Given the description of an element on the screen output the (x, y) to click on. 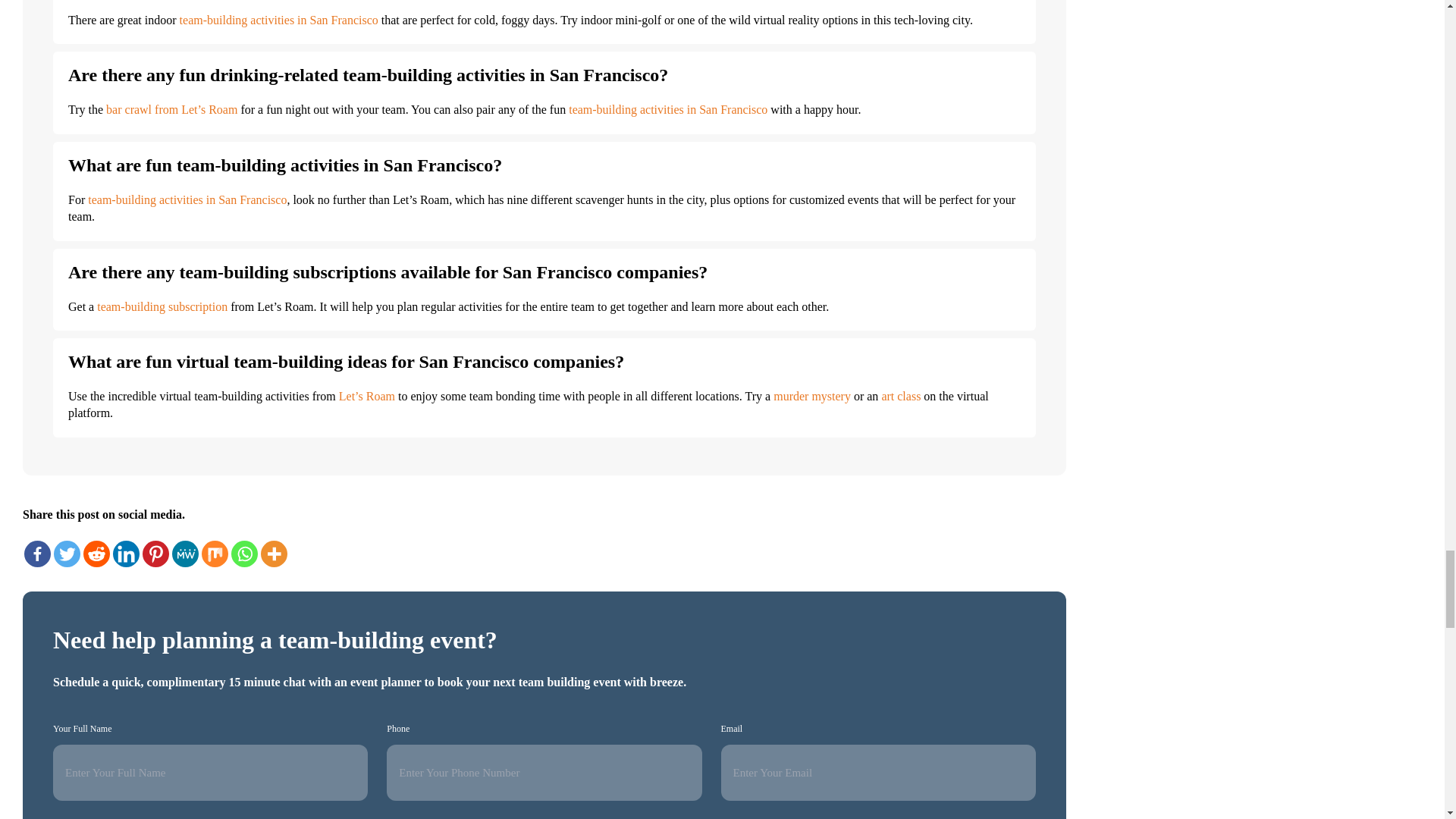
Twitter (66, 553)
More (273, 553)
MeWe (184, 553)
Reddit (96, 553)
Pinterest (155, 553)
Whatsapp (244, 553)
Mix (215, 553)
Linkedin (126, 553)
Facebook (37, 553)
